Given the description of an element on the screen output the (x, y) to click on. 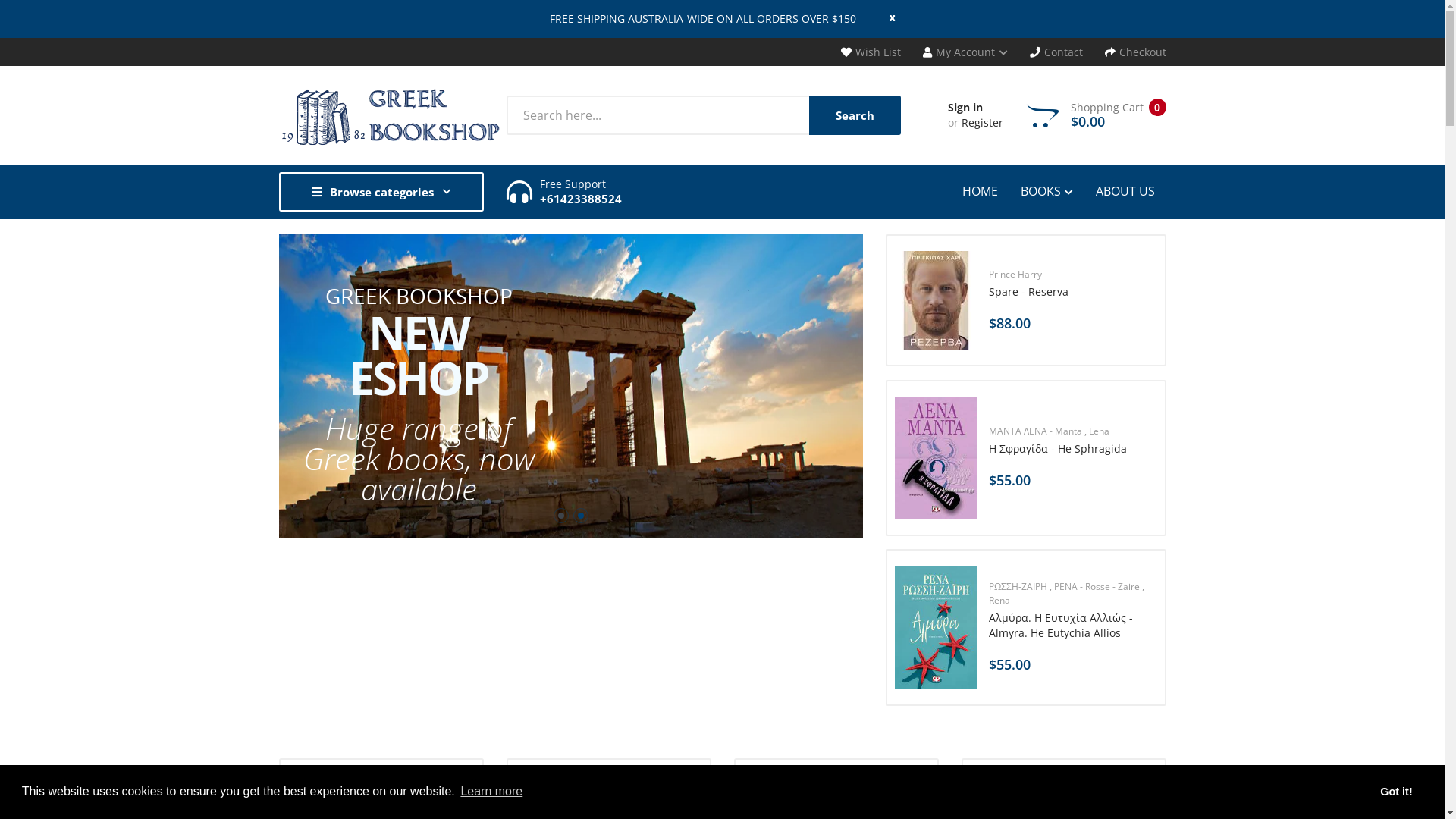
2 Element type: text (580, 503)
0
Shopping Cart
$0.00 Element type: text (1096, 115)
Register Element type: text (982, 122)
1 Element type: text (560, 503)
Checkout Element type: text (1134, 51)
Prince Harry Element type: text (1072, 273)
Learn more Element type: text (491, 791)
Spare - Reserva Element type: text (1072, 291)
Contact Element type: text (1055, 51)
Sign in Element type: text (964, 107)
HOME Element type: text (984, 190)
ABOUT US Element type: text (1125, 190)
My Account Element type: text (964, 51)
Got it! Element type: text (1396, 791)
BOOKS Element type: text (1045, 191)
Search Element type: text (854, 114)
Wish List Element type: text (870, 51)
x Element type: text (876, 16)
